Given the description of an element on the screen output the (x, y) to click on. 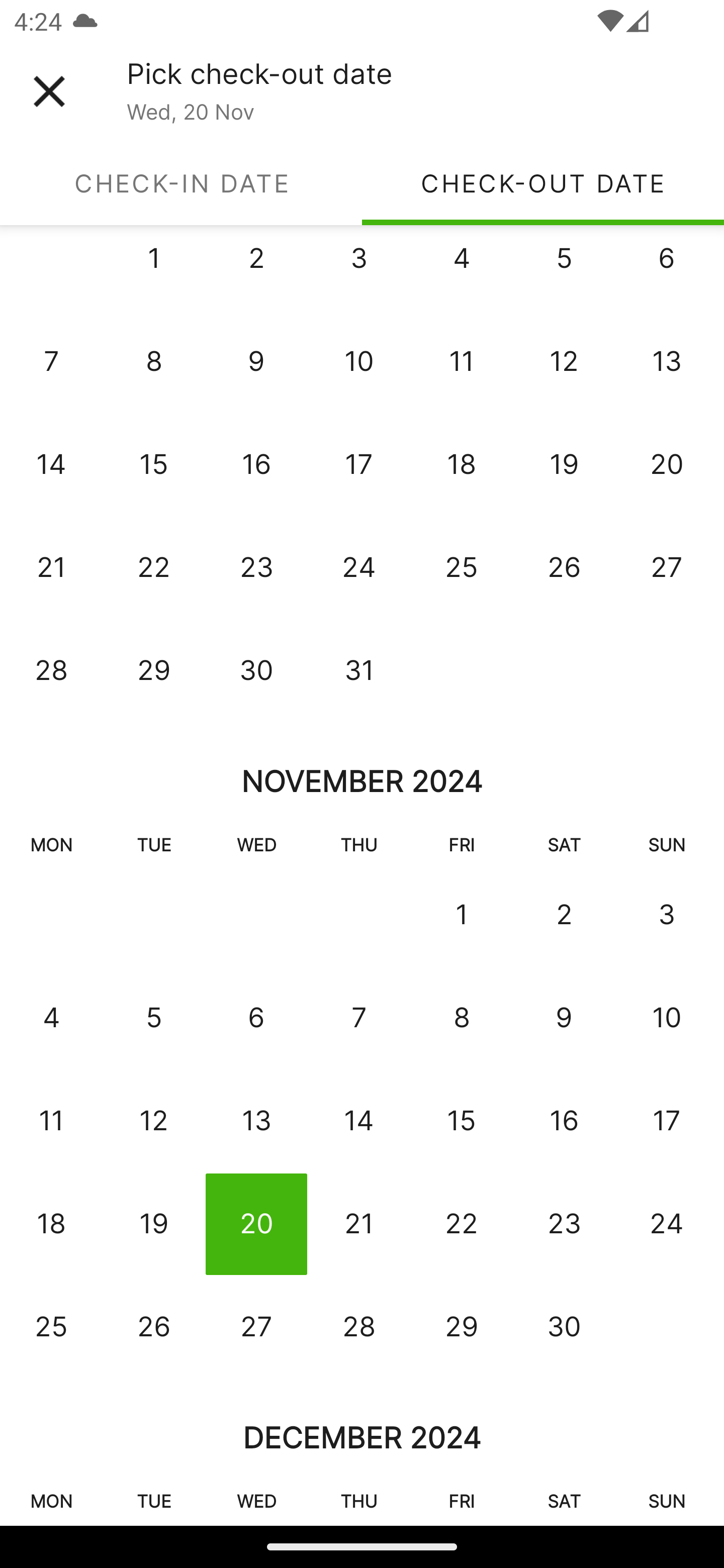
Check-in Date CHECK-IN DATE (181, 183)
